Given the description of an element on the screen output the (x, y) to click on. 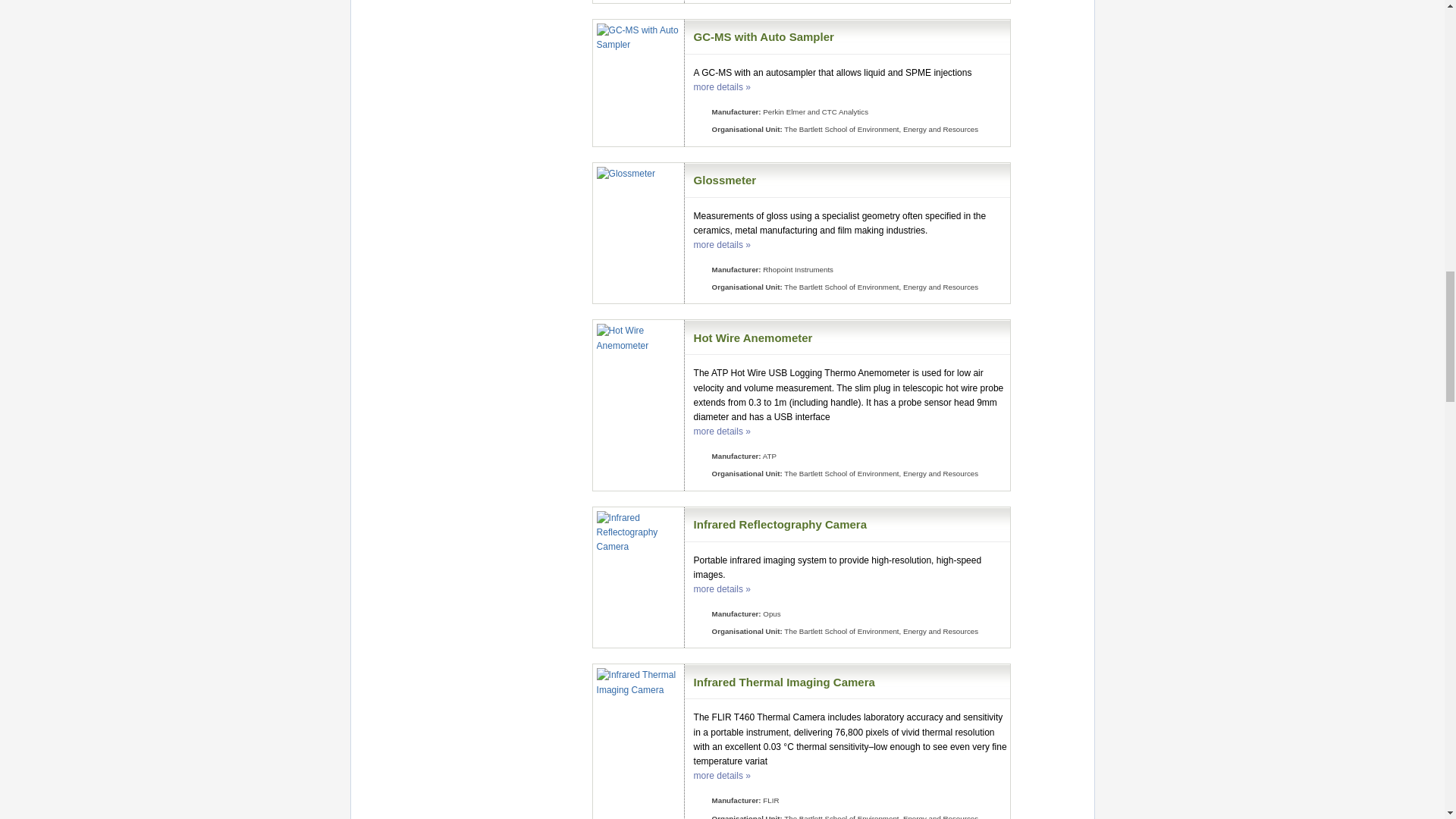
GC-MS with Auto Sampler (764, 36)
Hot Wire Anemometer (753, 337)
Infrared Reflectography Camera (780, 523)
Infrared Thermal Imaging Camera (784, 681)
Glossmeter (725, 179)
GC-MS with Auto Sampler (764, 36)
